Given the description of an element on the screen output the (x, y) to click on. 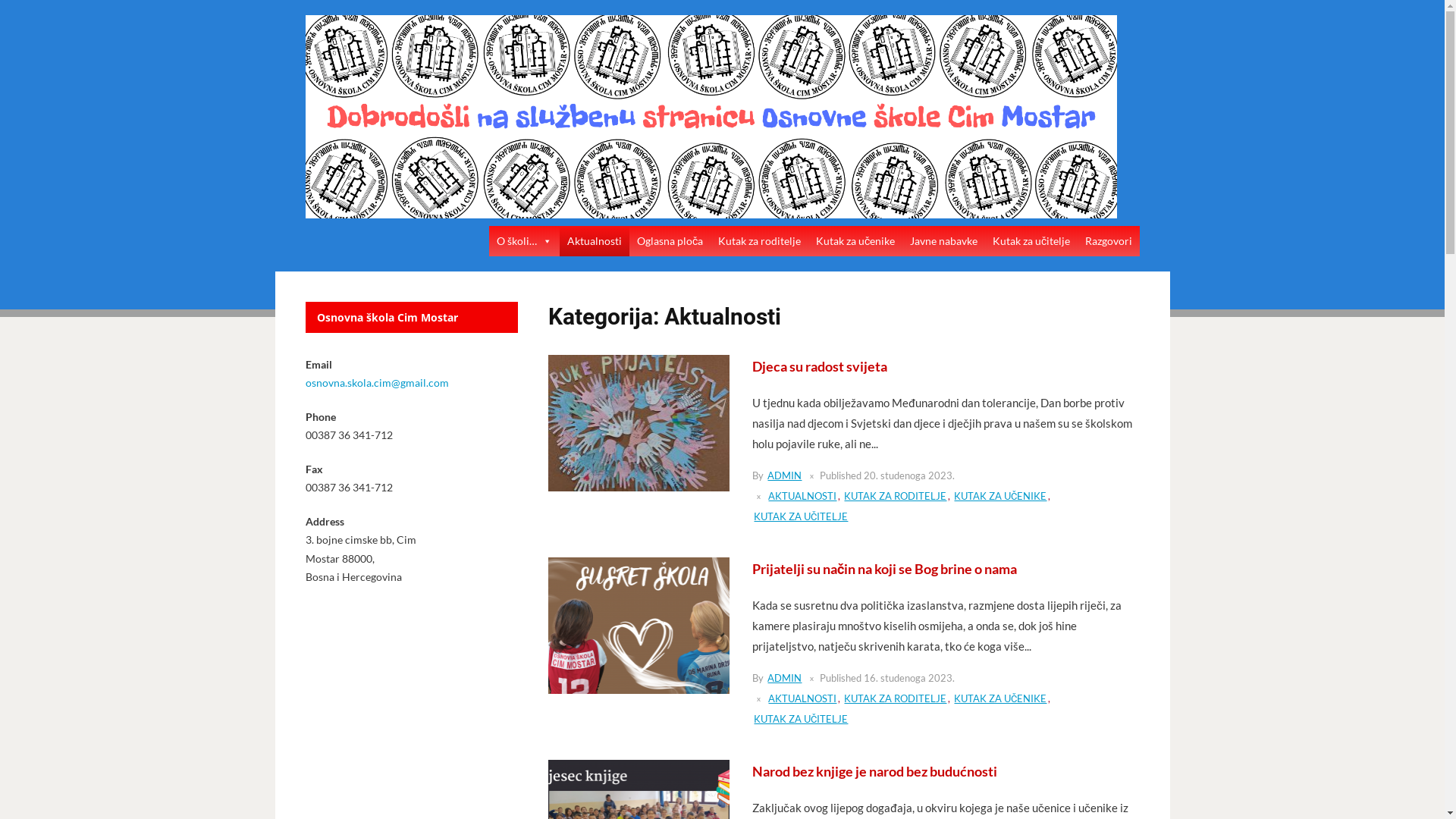
AKTUALNOSTI Element type: text (802, 698)
osnovna.skola.cim@gmail.com Element type: text (376, 382)
KUTAK ZA RODITELJE Element type: text (895, 496)
Razgovori Element type: text (1107, 240)
AKTUALNOSTI Element type: text (802, 496)
Kutak za roditelje Element type: text (758, 240)
Aktualnosti Element type: text (594, 240)
Javne nabavke Element type: text (943, 240)
KUTAK ZA RODITELJE Element type: text (895, 698)
16. studenoga 2023. Element type: text (908, 678)
ADMIN Element type: text (784, 475)
20. studenoga 2023. Element type: text (908, 475)
Djeca su radost svijeta Element type: hover (638, 421)
Djeca su radost svijeta Element type: text (819, 365)
ADMIN Element type: text (784, 678)
